Given the description of an element on the screen output the (x, y) to click on. 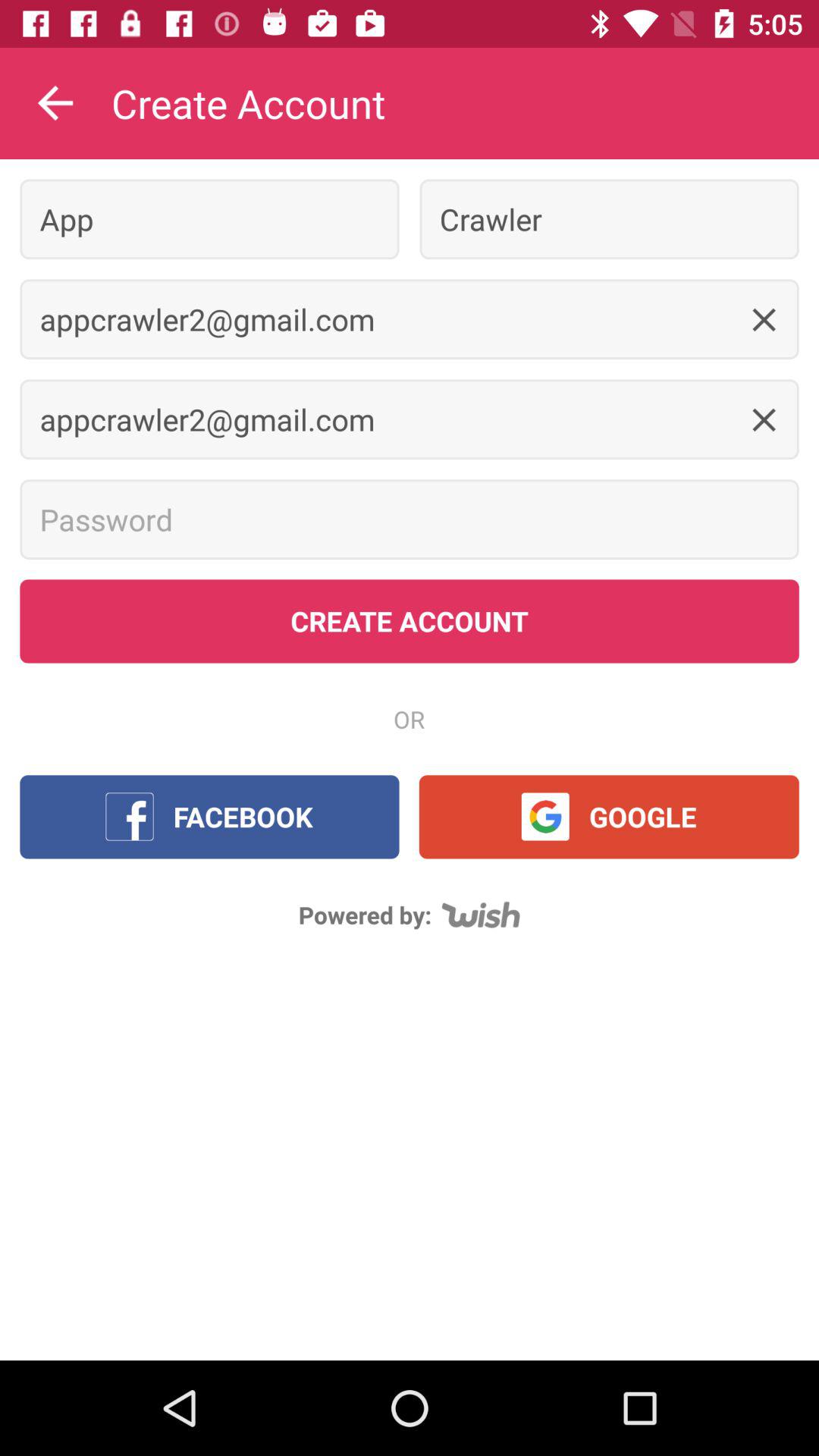
click icon next to crawler icon (209, 219)
